Given the description of an element on the screen output the (x, y) to click on. 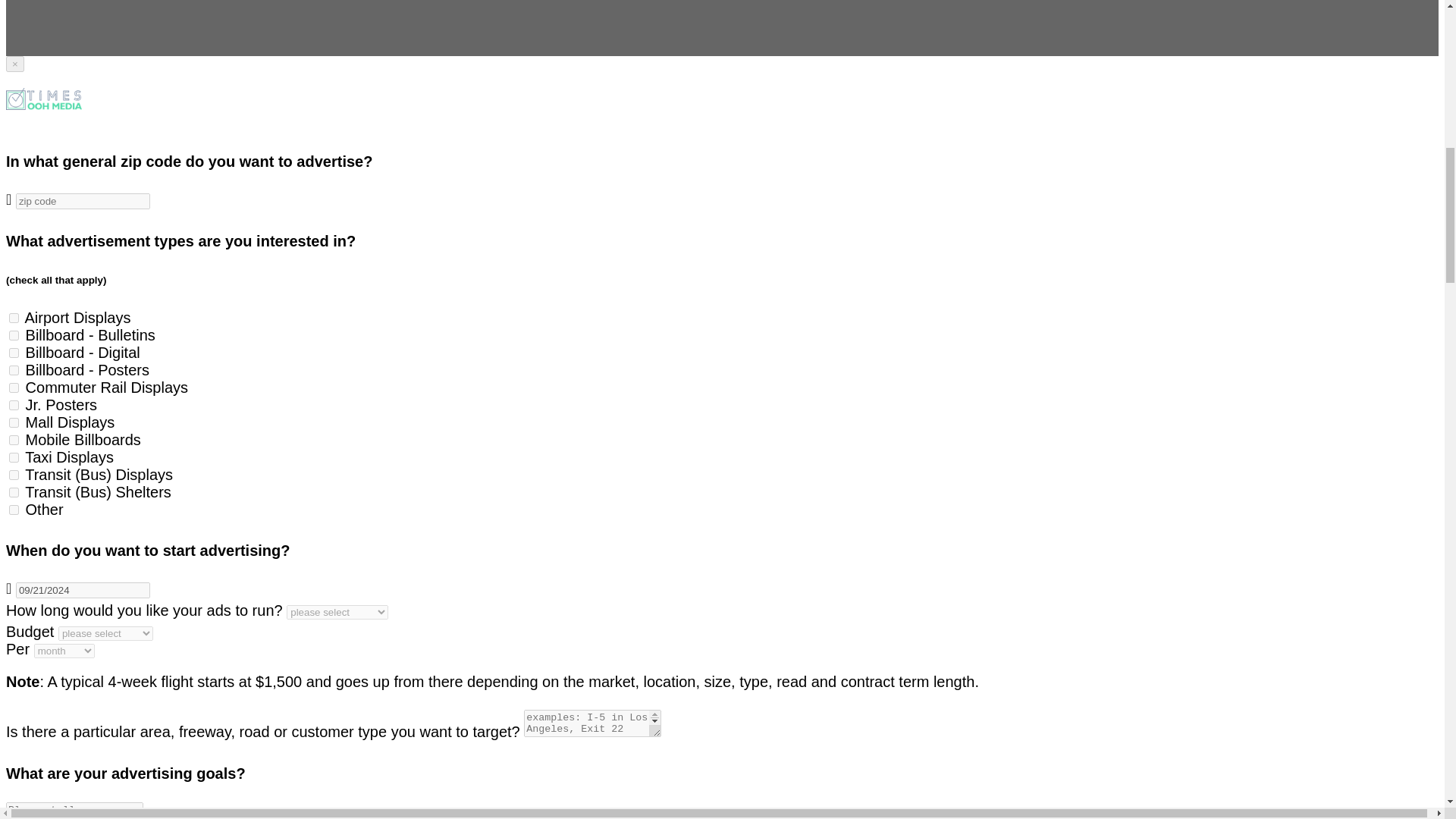
Other (13, 510)
Billboard - Posters (13, 370)
Jr. Posters (13, 405)
Mall Displays (13, 422)
Commuter Rail Displays (13, 388)
Billboard - Digital (13, 352)
Taxi Displays (13, 457)
Billboard - Bulletins (13, 335)
Airport Displays (13, 317)
Mobile Billboards (13, 439)
